Given the description of an element on the screen output the (x, y) to click on. 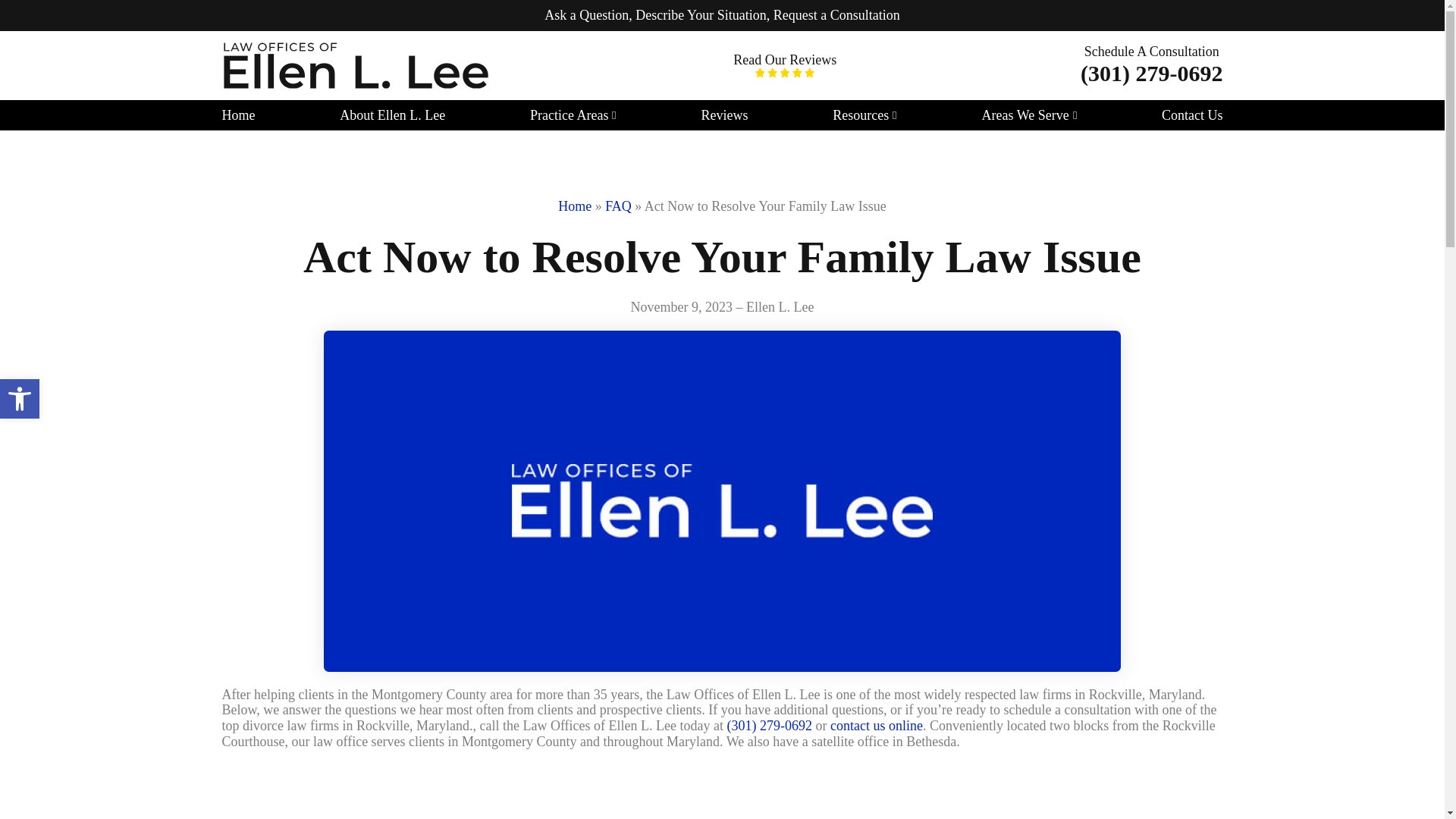
About Ellen L. Lee (392, 115)
Accessibility Tools (19, 398)
Home (237, 115)
Read Our Reviews (784, 65)
Accessibility Tools (19, 398)
Practice Areas (568, 115)
